Given the description of an element on the screen output the (x, y) to click on. 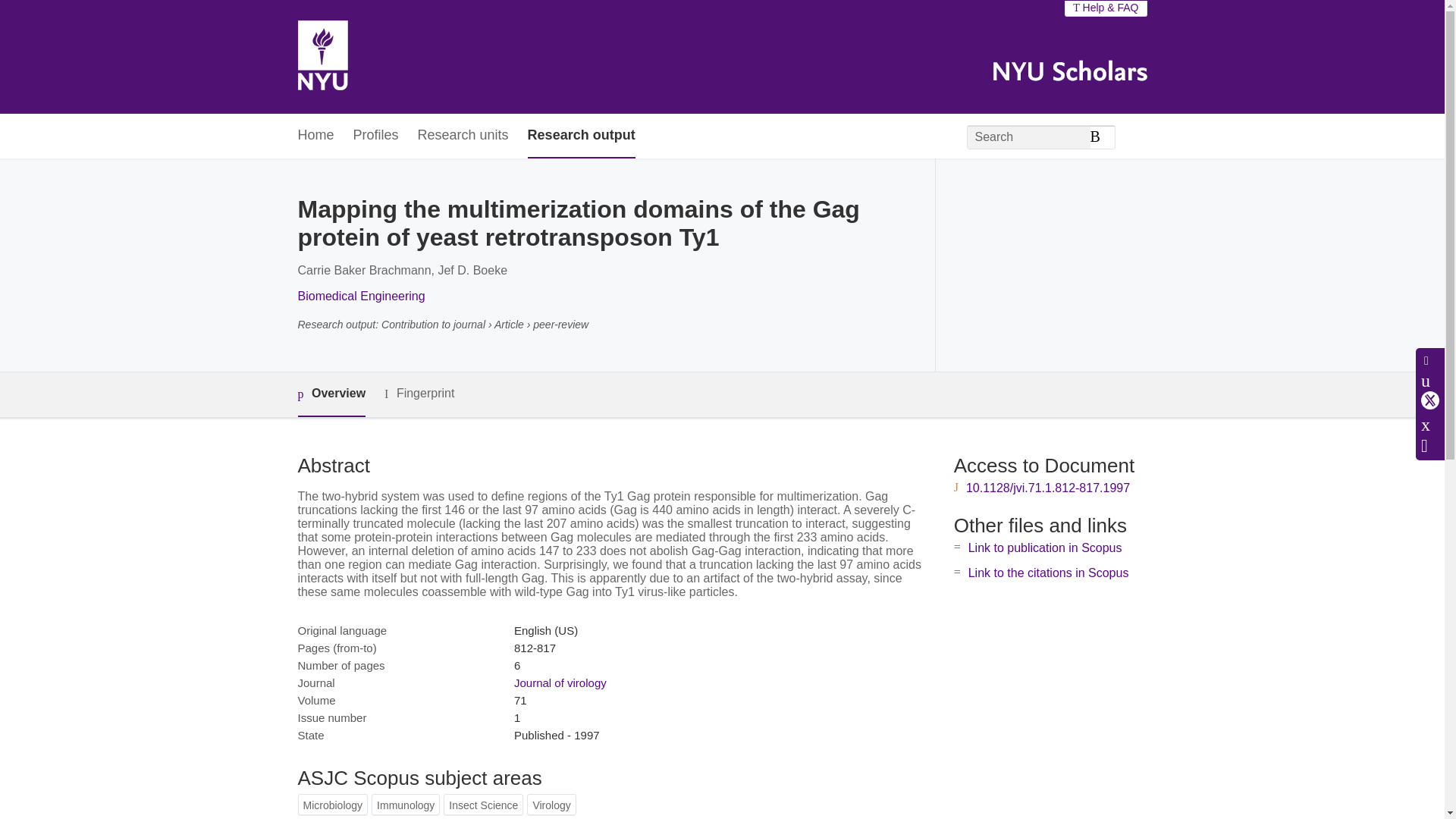
Journal of virology (560, 682)
Biomedical Engineering (361, 295)
Research units (462, 135)
Profiles (375, 135)
Research output (580, 135)
Link to publication in Scopus (1045, 547)
Overview (331, 394)
Link to the citations in Scopus (1048, 572)
Fingerprint (419, 393)
